Given the description of an element on the screen output the (x, y) to click on. 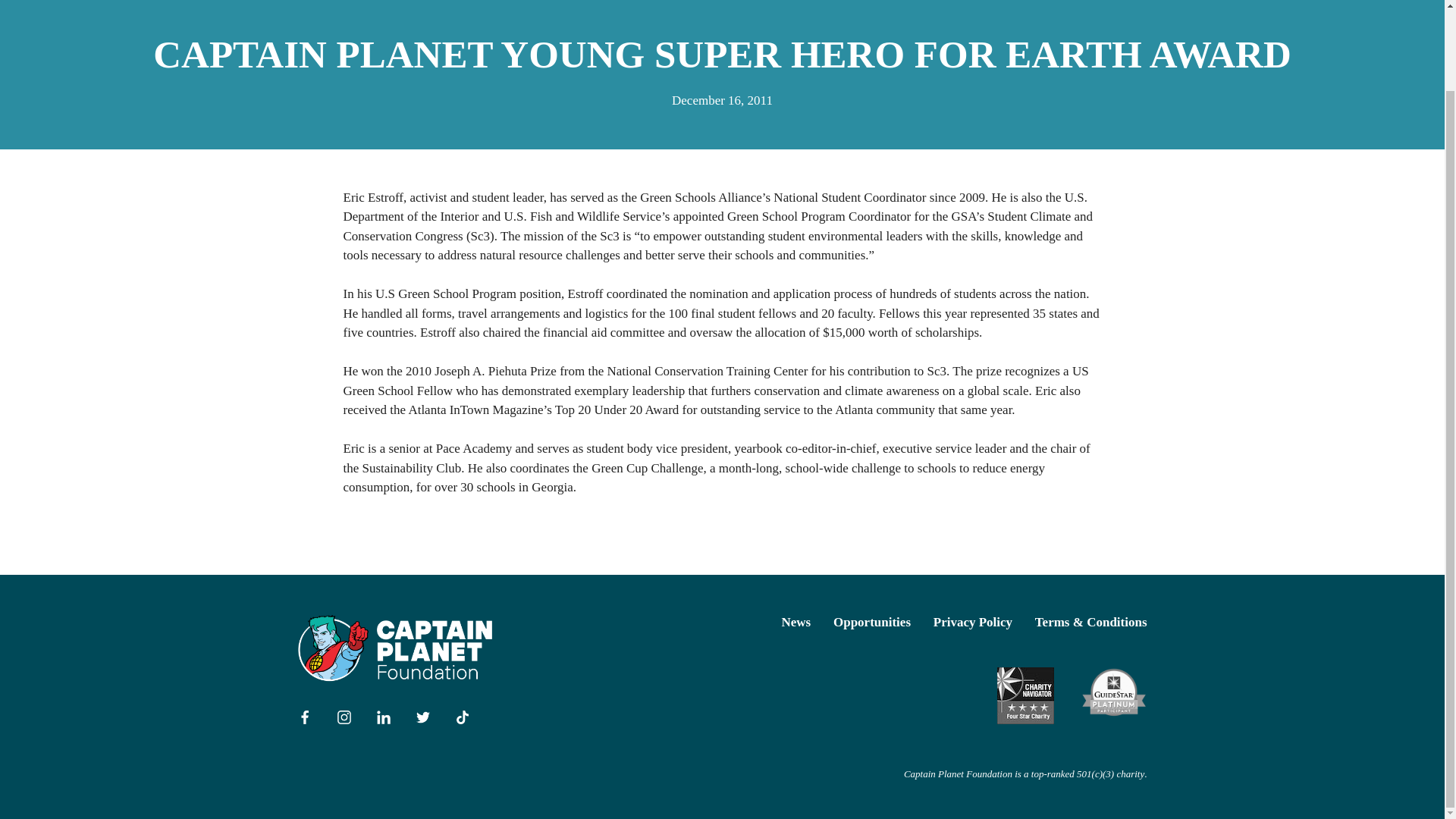
News (795, 622)
Opportunities (871, 622)
Privacy Policy (972, 622)
